Given the description of an element on the screen output the (x, y) to click on. 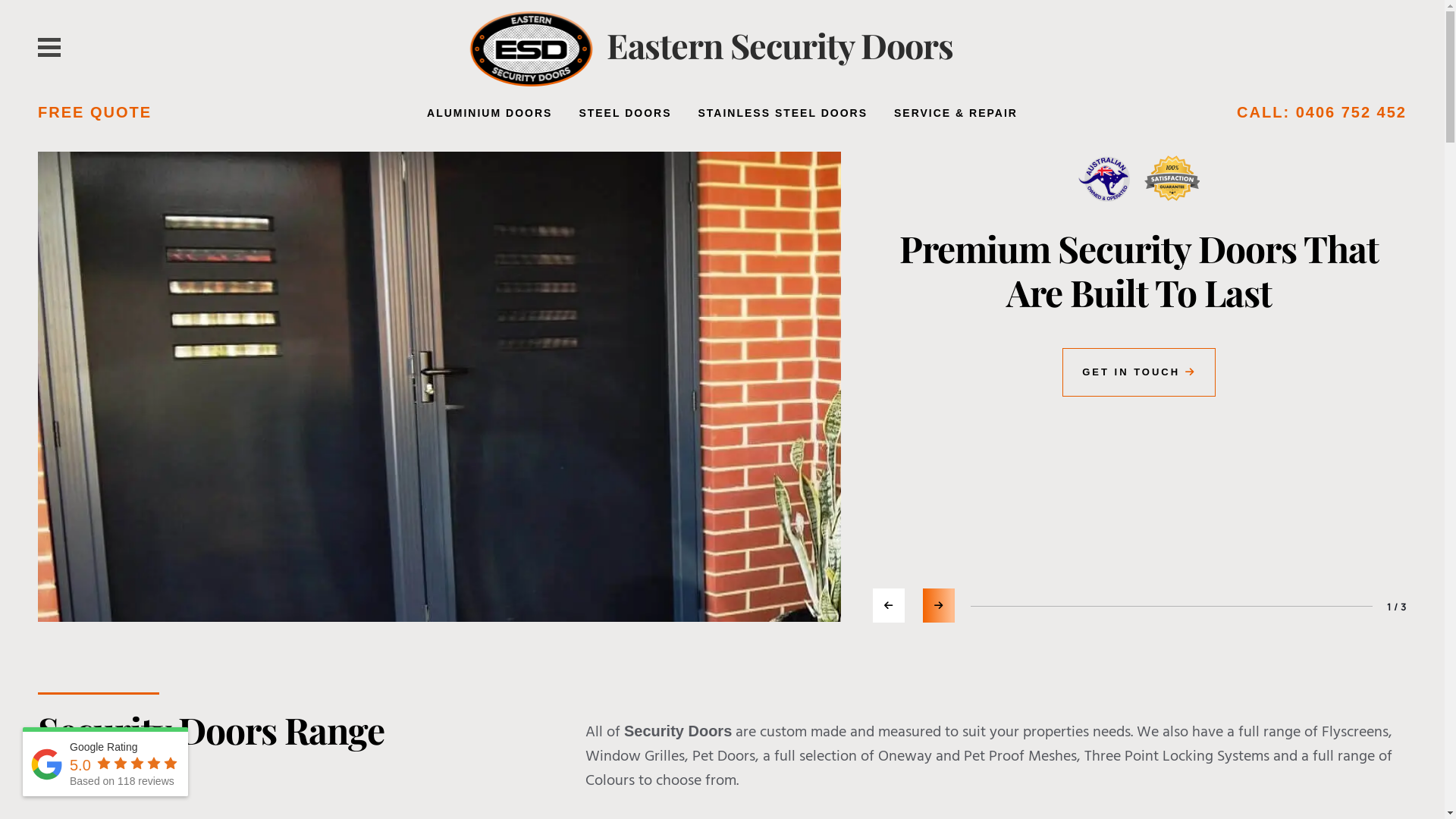
FREE QUOTE Element type: text (94, 111)
SERVICE & REPAIR Element type: text (955, 114)
CALL: 0406 752 452 Element type: text (1321, 111)
STEEL DOORS Element type: text (624, 114)
ALUMINIUM DOORS Element type: text (489, 114)
STAINLESS STEEL DOORS Element type: text (782, 114)
Eastern Security Doors Element type: text (779, 44)
GET IN TOUCH Element type: text (1138, 372)
Skip to content Element type: text (0, 0)
